Given the description of an element on the screen output the (x, y) to click on. 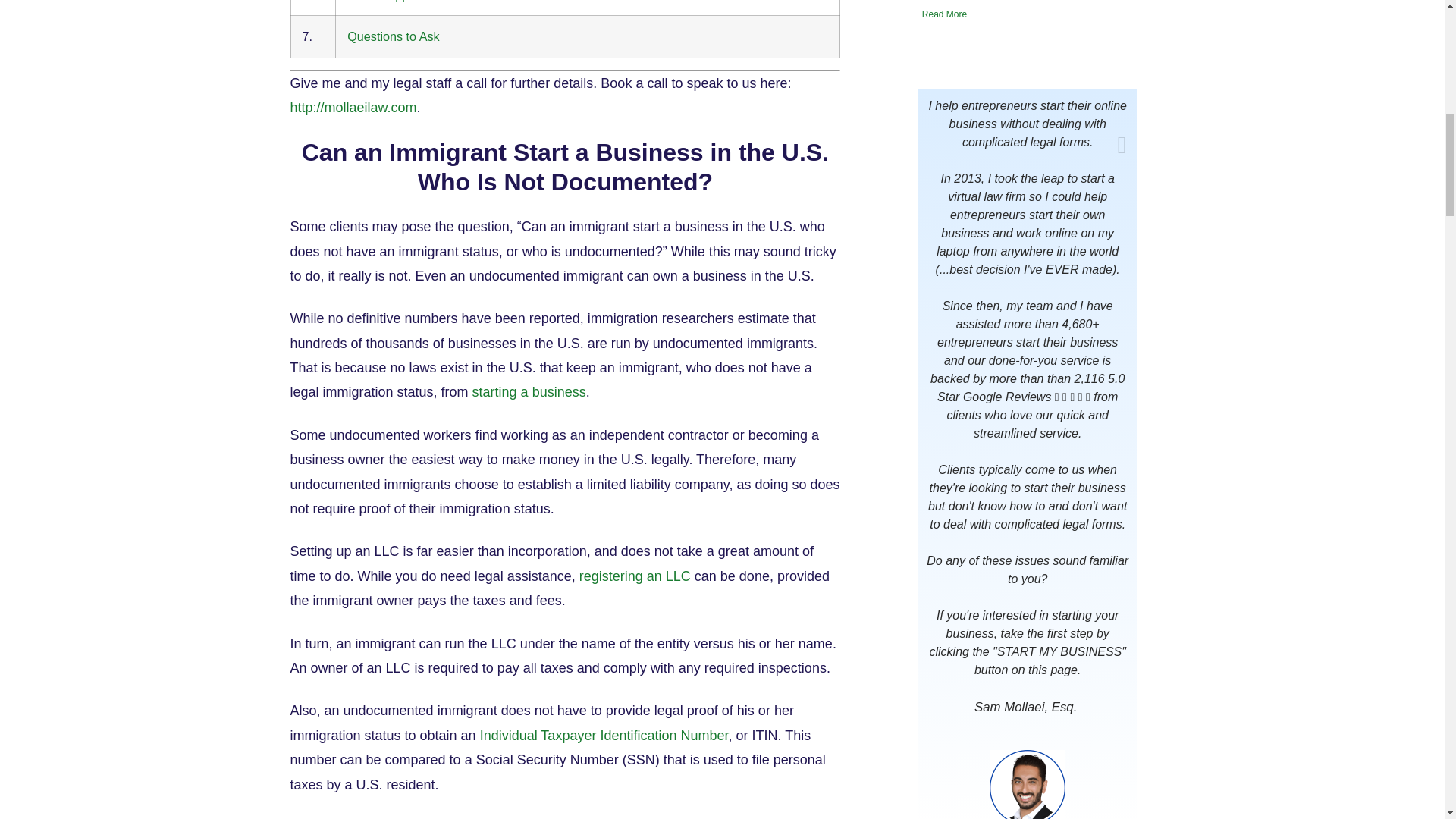
registering an LLC (634, 575)
starting a business (528, 391)
Questions to Ask (393, 36)
Individual Taxpayer Identification Number (604, 735)
What Happens Next? (405, 0)
